Given the description of an element on the screen output the (x, y) to click on. 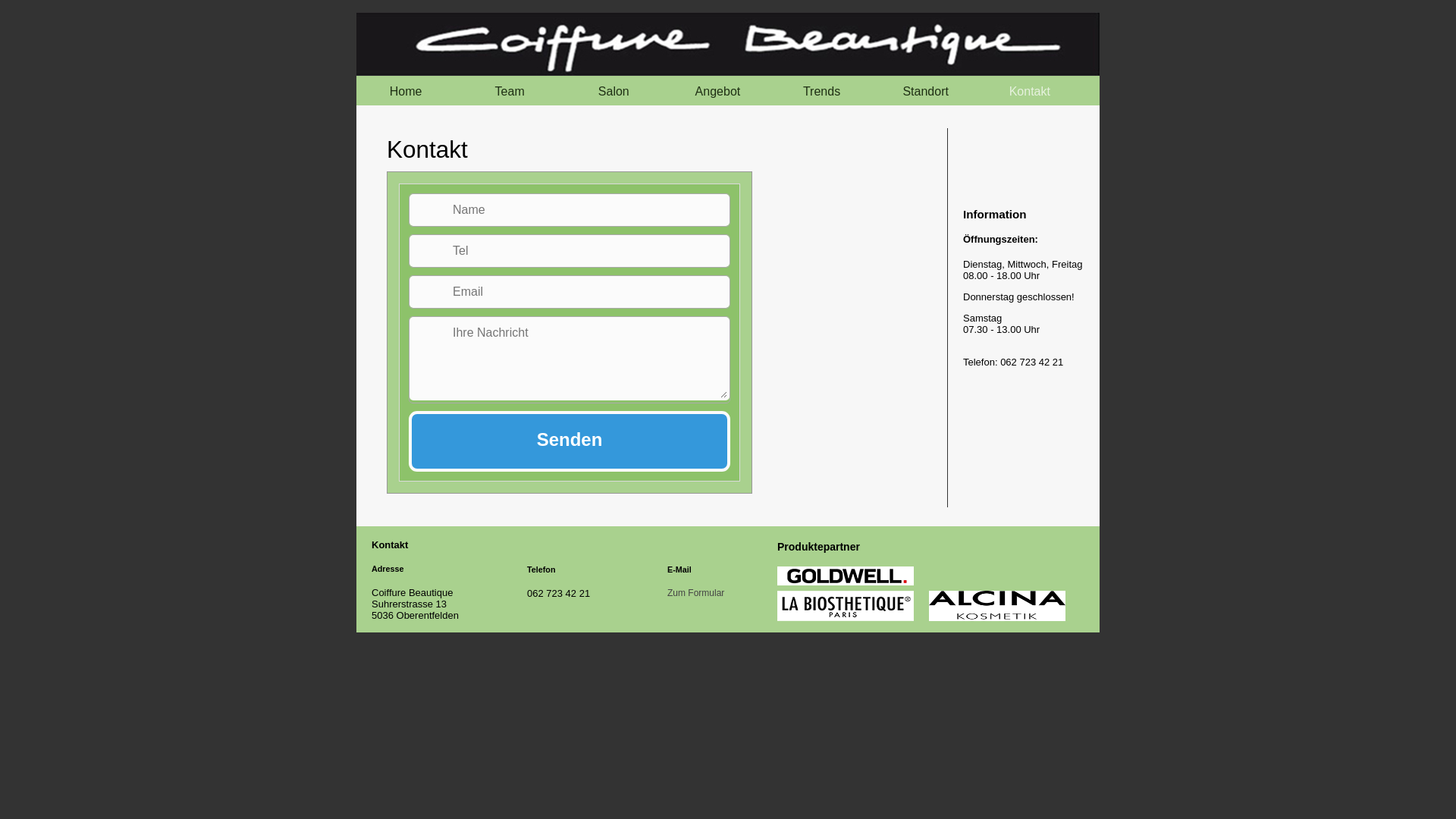
Zum Formular Element type: text (712, 596)
Team Element type: text (509, 91)
Senden Element type: text (569, 441)
Standort Element type: text (925, 91)
Home Element type: text (405, 91)
Salon Element type: text (613, 91)
Trends Element type: text (820, 91)
Angebot Element type: text (717, 91)
